Given the description of an element on the screen output the (x, y) to click on. 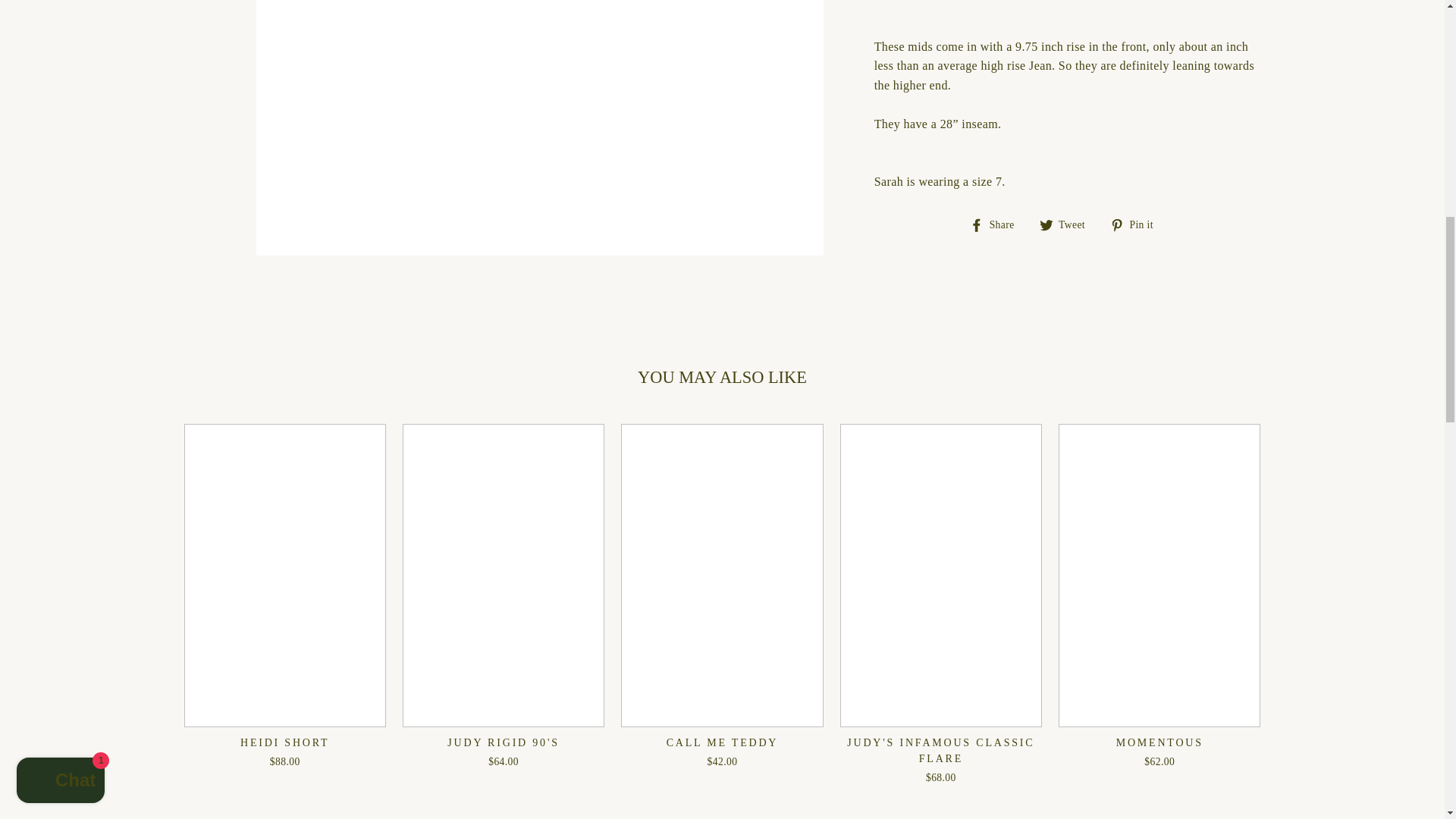
Pin on Pinterest (1136, 224)
Share on Facebook (997, 224)
Tweet on Twitter (1067, 224)
